Given the description of an element on the screen output the (x, y) to click on. 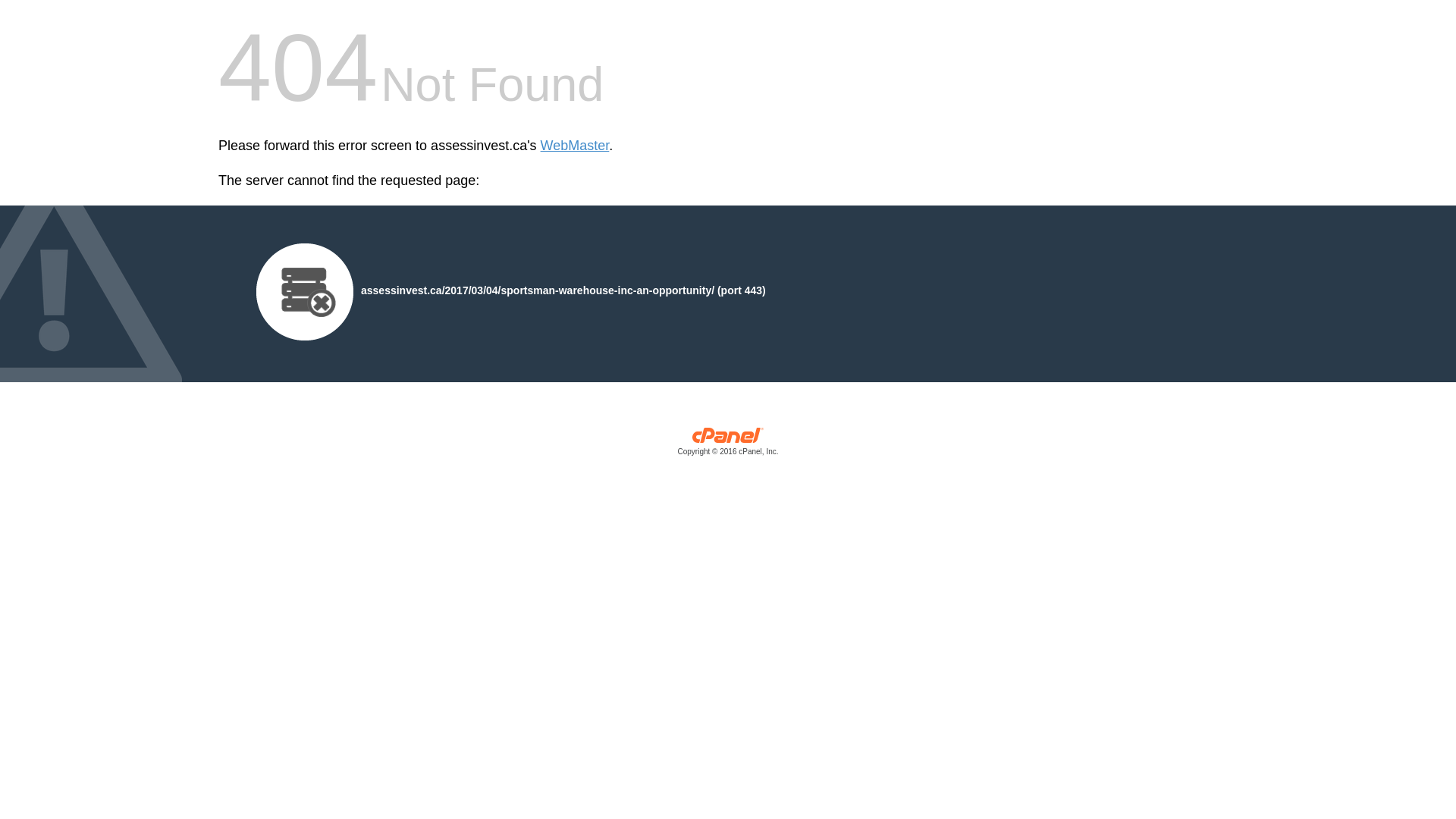
WebMaster Element type: text (574, 145)
